Given the description of an element on the screen output the (x, y) to click on. 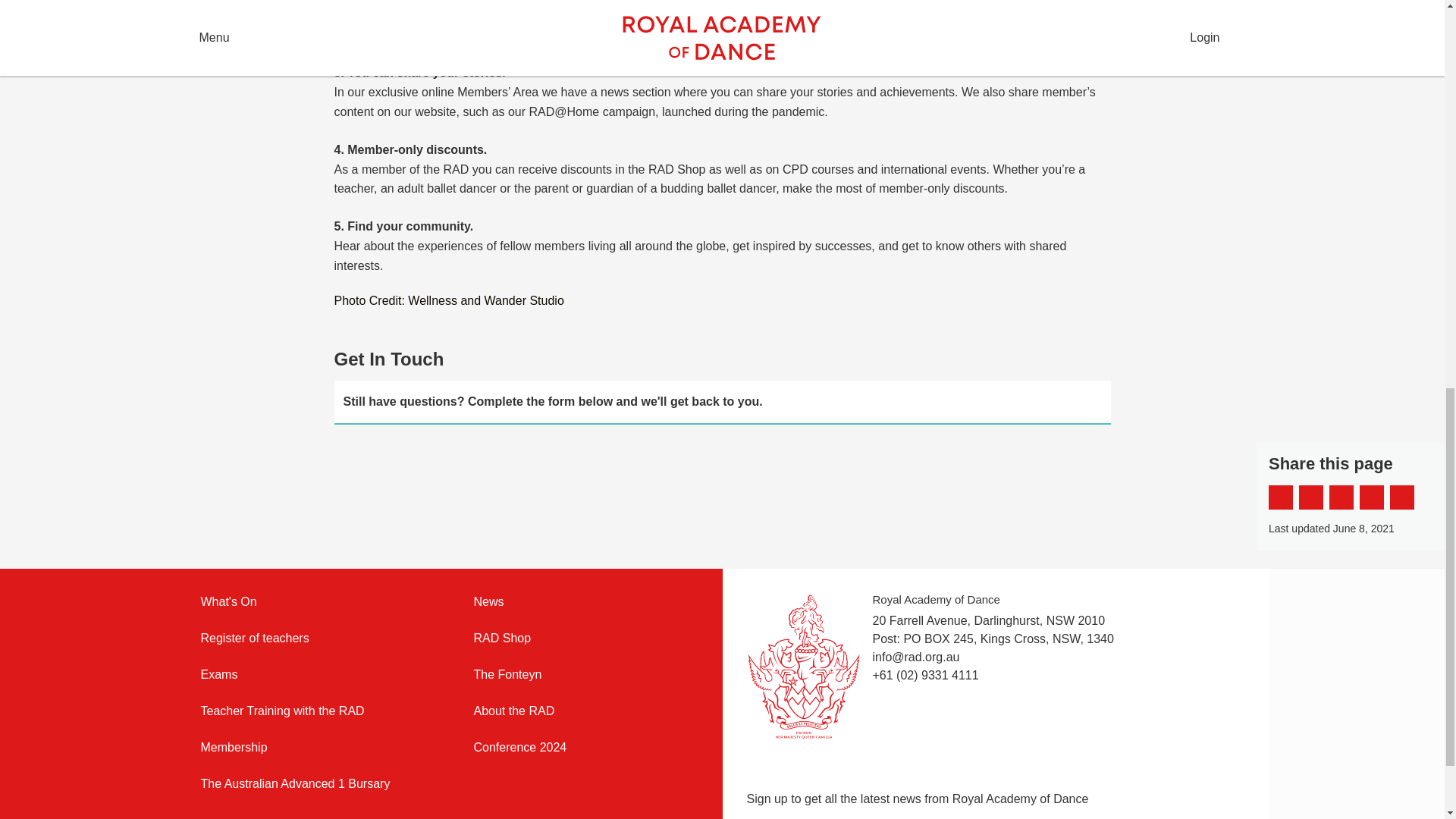
Share this page on Facebook (1280, 497)
Share this page on Twitter (1310, 497)
Membership (312, 747)
Conference 2024 (585, 747)
News (585, 601)
Teacher Training with the RAD (312, 710)
RAD Shop (585, 638)
The Fonteyn (585, 674)
Share this page on linkedin (1371, 497)
